Given the description of an element on the screen output the (x, y) to click on. 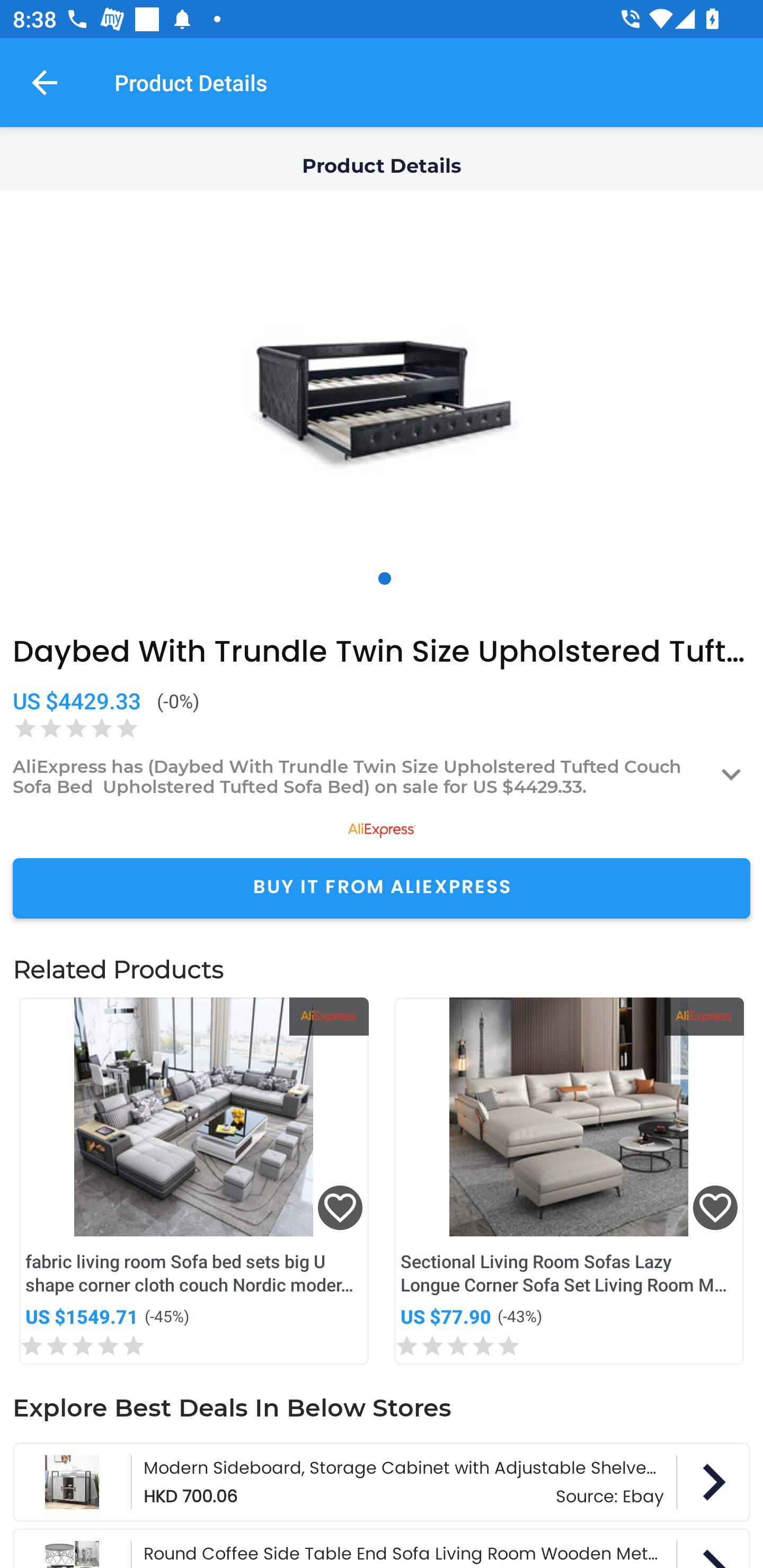
Navigate up (44, 82)
BUY IT FROM ALIEXPRESS (381, 888)
